Given the description of an element on the screen output the (x, y) to click on. 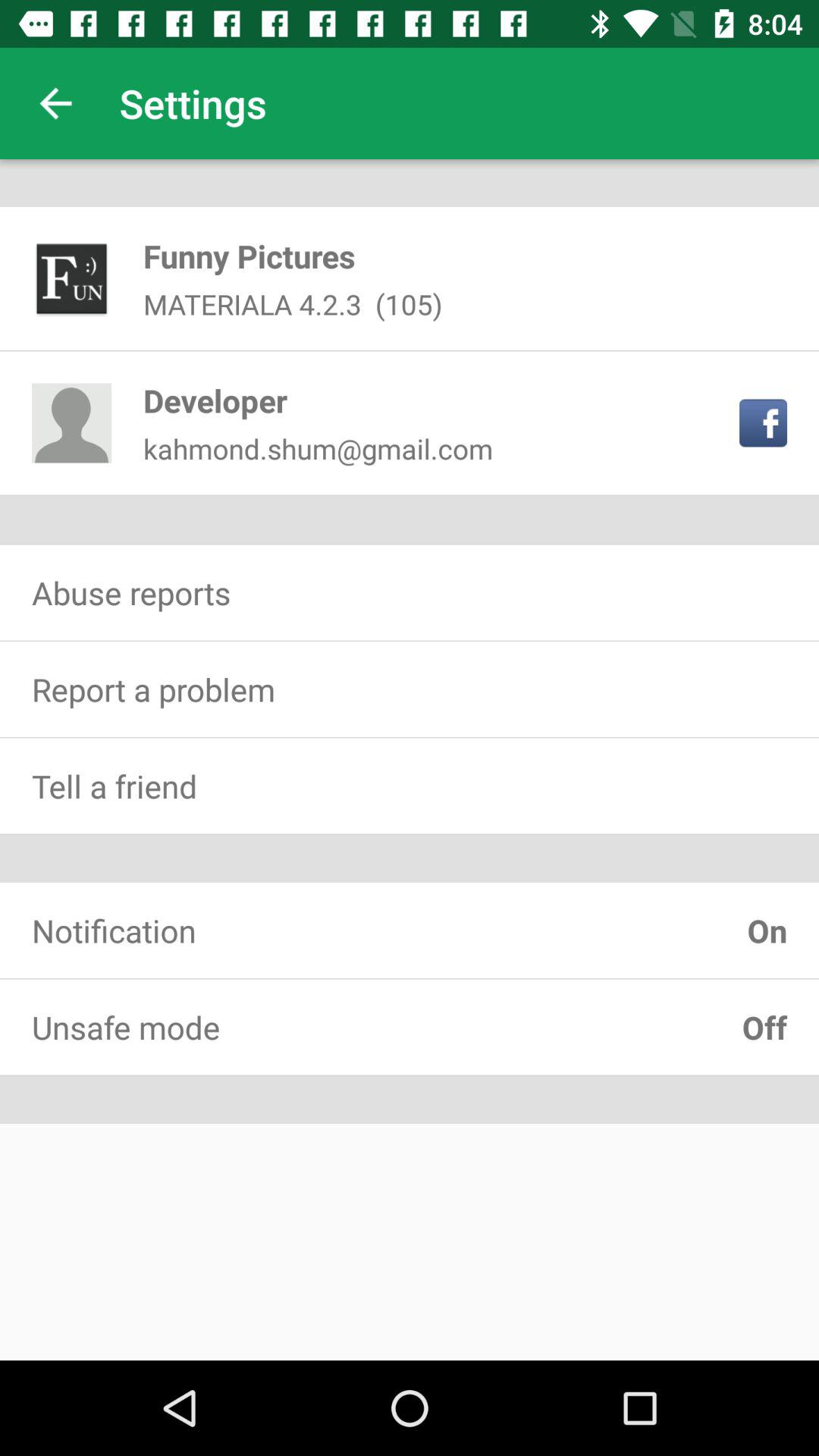
choose item next to the settings item (55, 103)
